Given the description of an element on the screen output the (x, y) to click on. 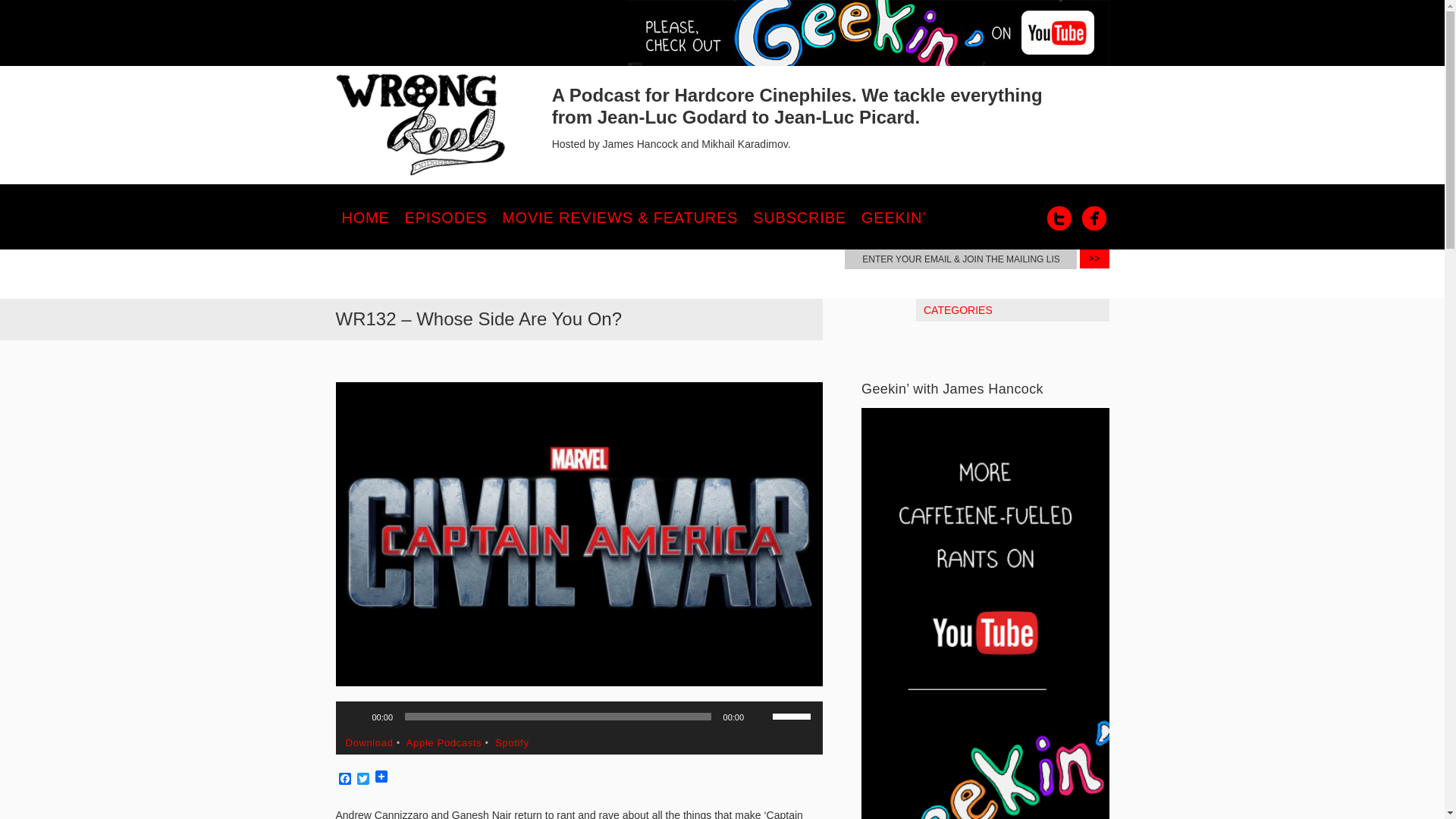
Play (354, 716)
Facebook (343, 780)
Twitter (362, 780)
Facebook (343, 780)
EPISODES (445, 217)
Mute (760, 716)
Facebook (1093, 218)
Wrong Reel Productions (419, 124)
Spotify (511, 742)
Apple Podcasts (443, 742)
